Given the description of an element on the screen output the (x, y) to click on. 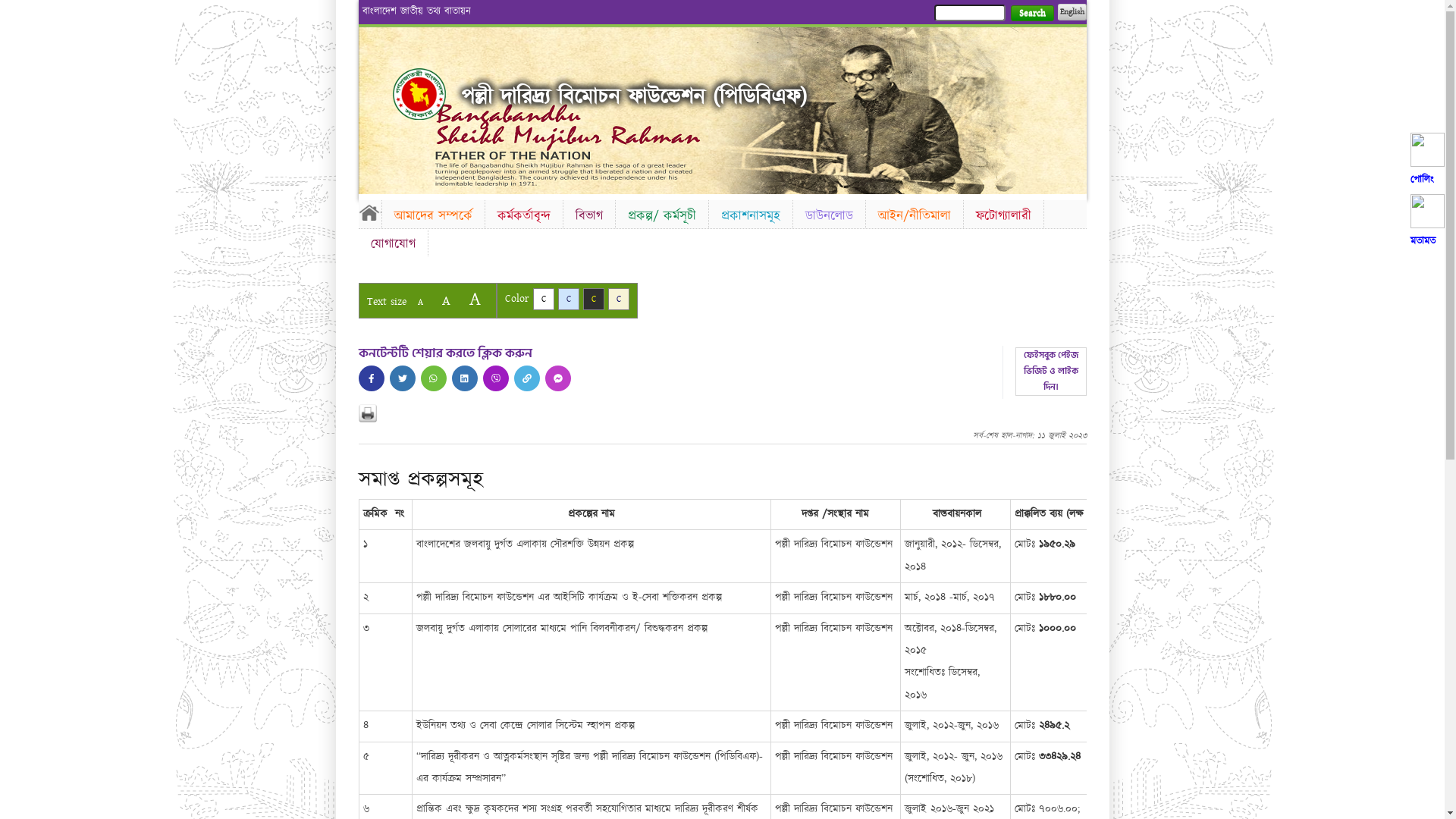
Search Element type: text (1031, 13)
A Element type: text (419, 301)
A Element type: text (474, 298)
C Element type: text (568, 299)
A Element type: text (445, 300)
Home Element type: hover (368, 211)
C Element type: text (542, 299)
Home Element type: hover (418, 93)
English Element type: text (1071, 11)
C Element type: text (618, 299)
C Element type: text (592, 299)
